Given the description of an element on the screen output the (x, y) to click on. 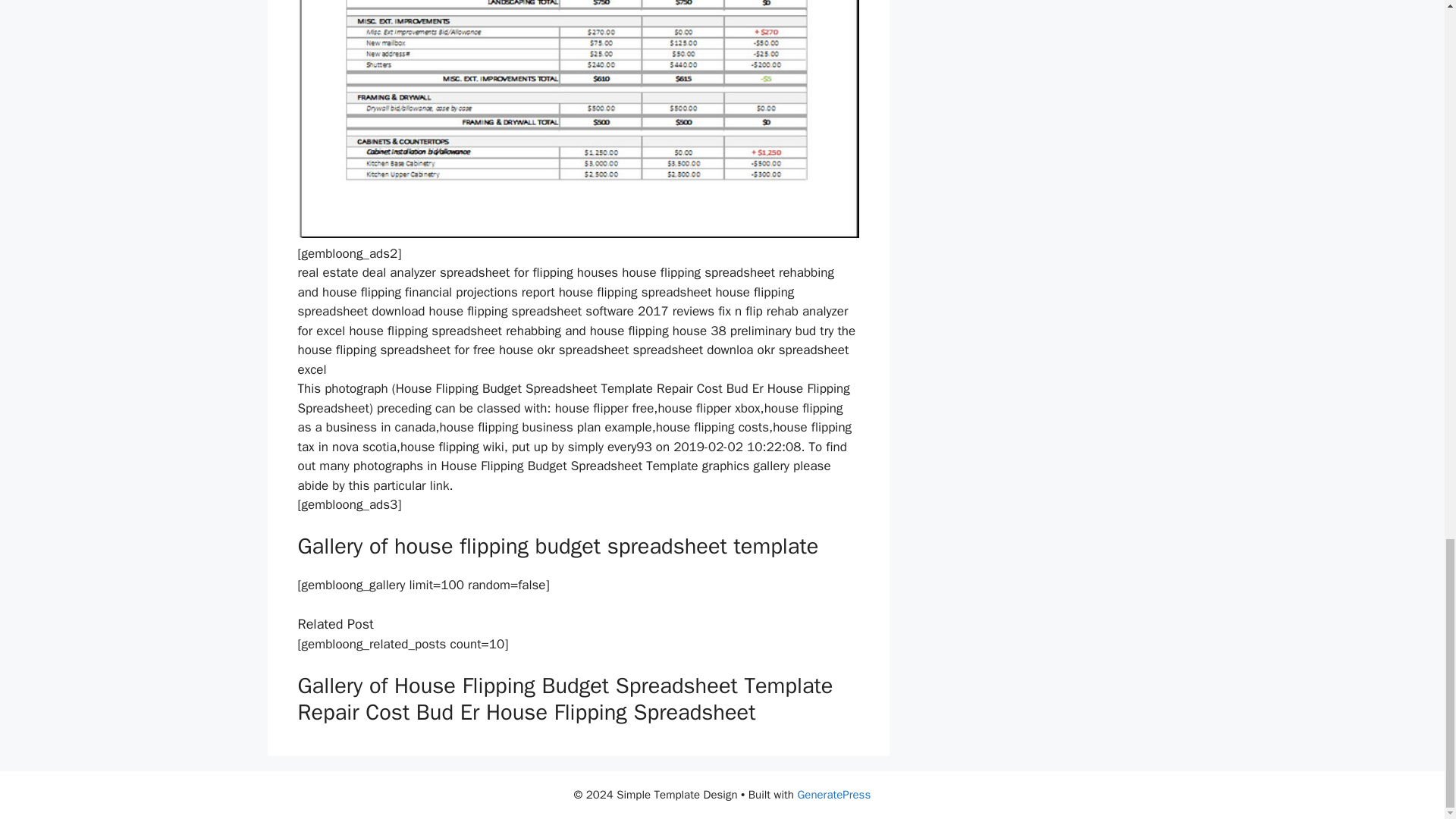
GeneratePress (833, 794)
Repair Cost Bud er House Flipping Spreadsheet (578, 119)
